Given the description of an element on the screen output the (x, y) to click on. 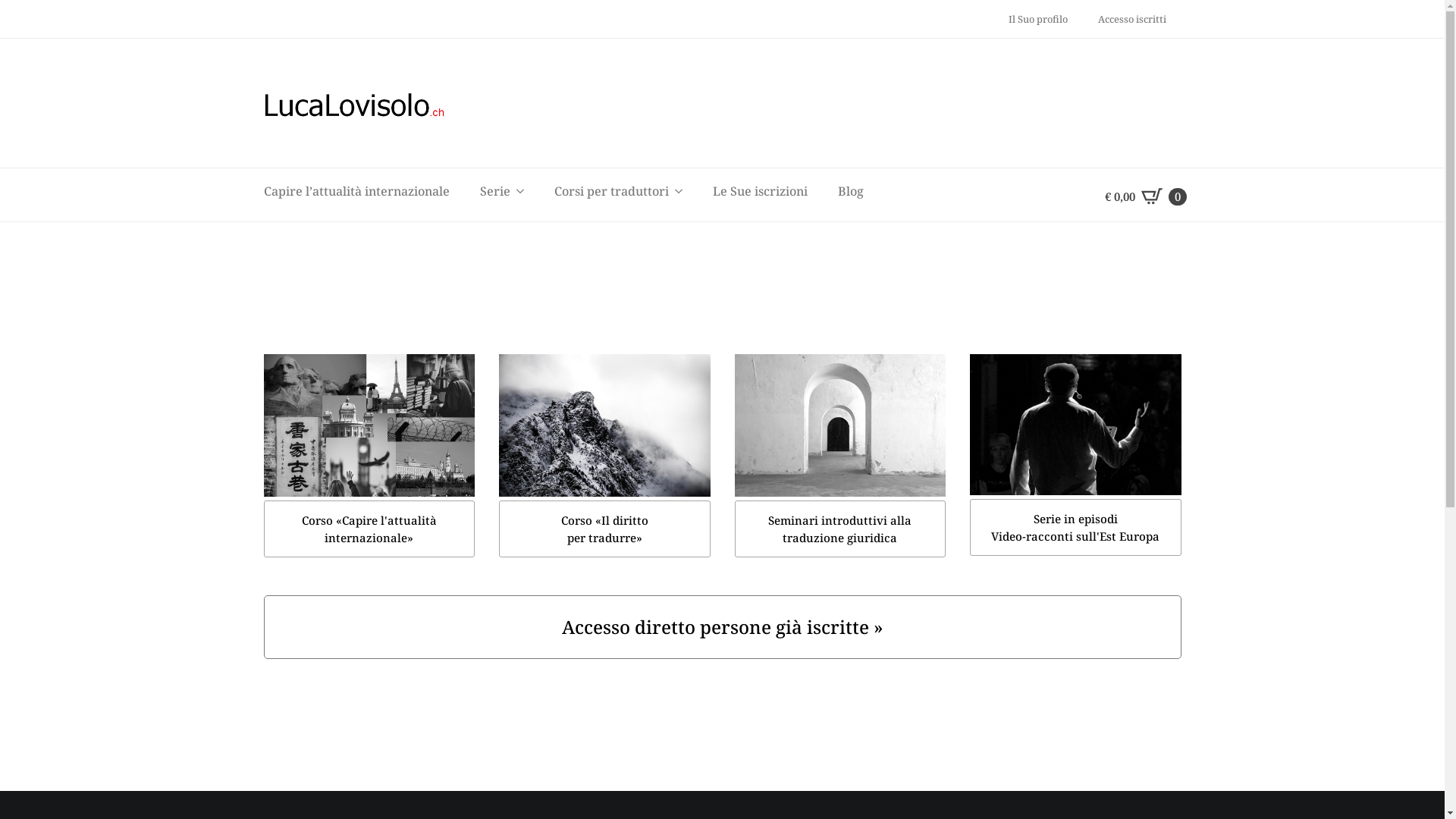
Serie in episodi
Video-racconti sull'Est Europa Element type: text (1075, 526)
Seminari introduttivi alla traduzione giuridica Element type: text (839, 528)
Corsi per traduttori Element type: text (603, 190)
Blog Element type: text (850, 190)
Serie Element type: text (486, 190)
Le Sue iscrizioni Element type: text (759, 190)
